Given the description of an element on the screen output the (x, y) to click on. 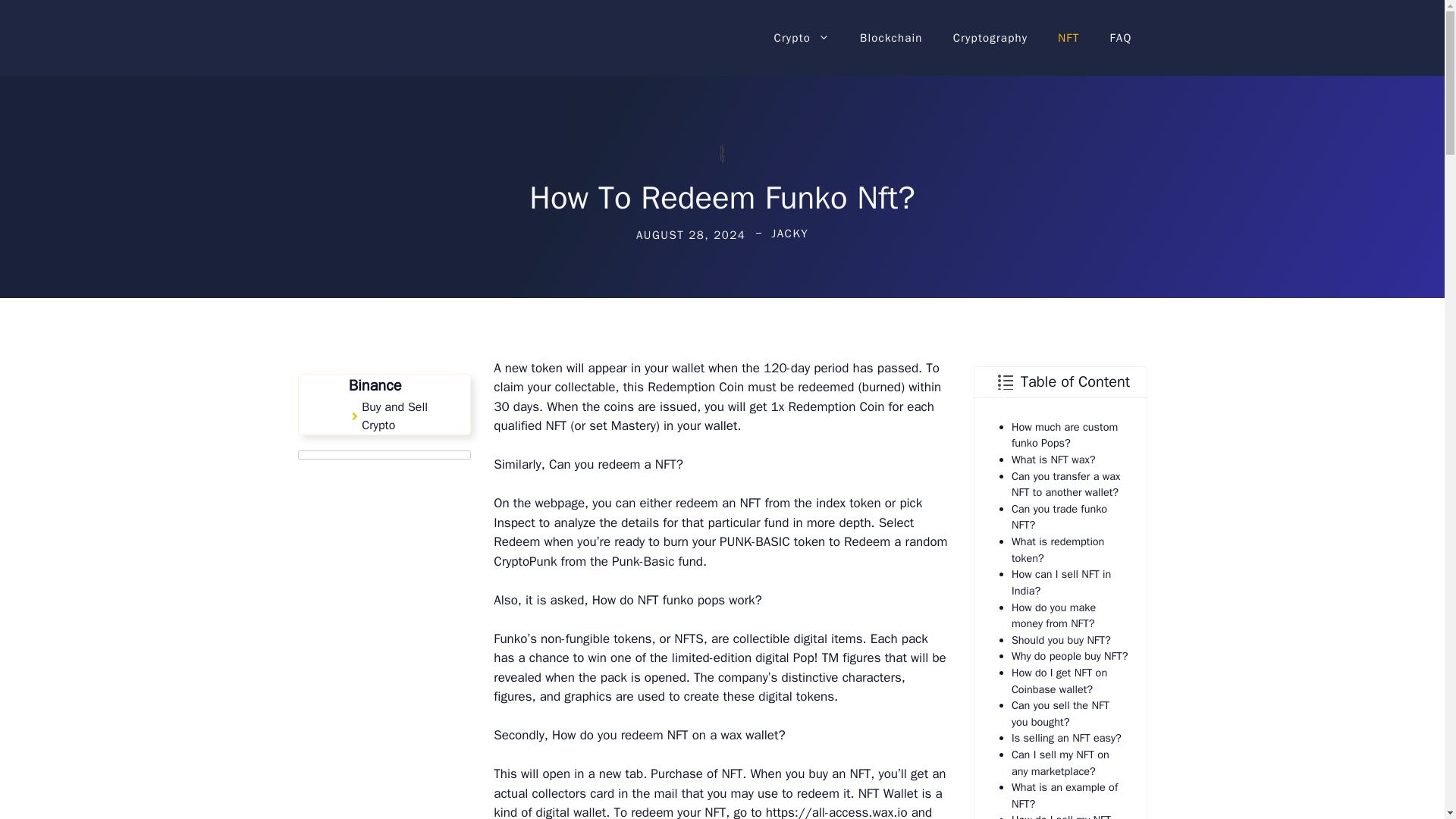
What is redemption token? (1057, 549)
Crypto (801, 37)
Can you trade funko NFT? (1058, 517)
How can I sell NFT in India? (1060, 582)
How do you make money from NFT? (1053, 615)
Can I sell my NFT on any marketplace? (1060, 762)
NFT (1068, 37)
Is selling an NFT easy? (1066, 737)
Can you sell the NFT you bought? (1060, 713)
Should you buy NFT? (1060, 640)
